Given the description of an element on the screen output the (x, y) to click on. 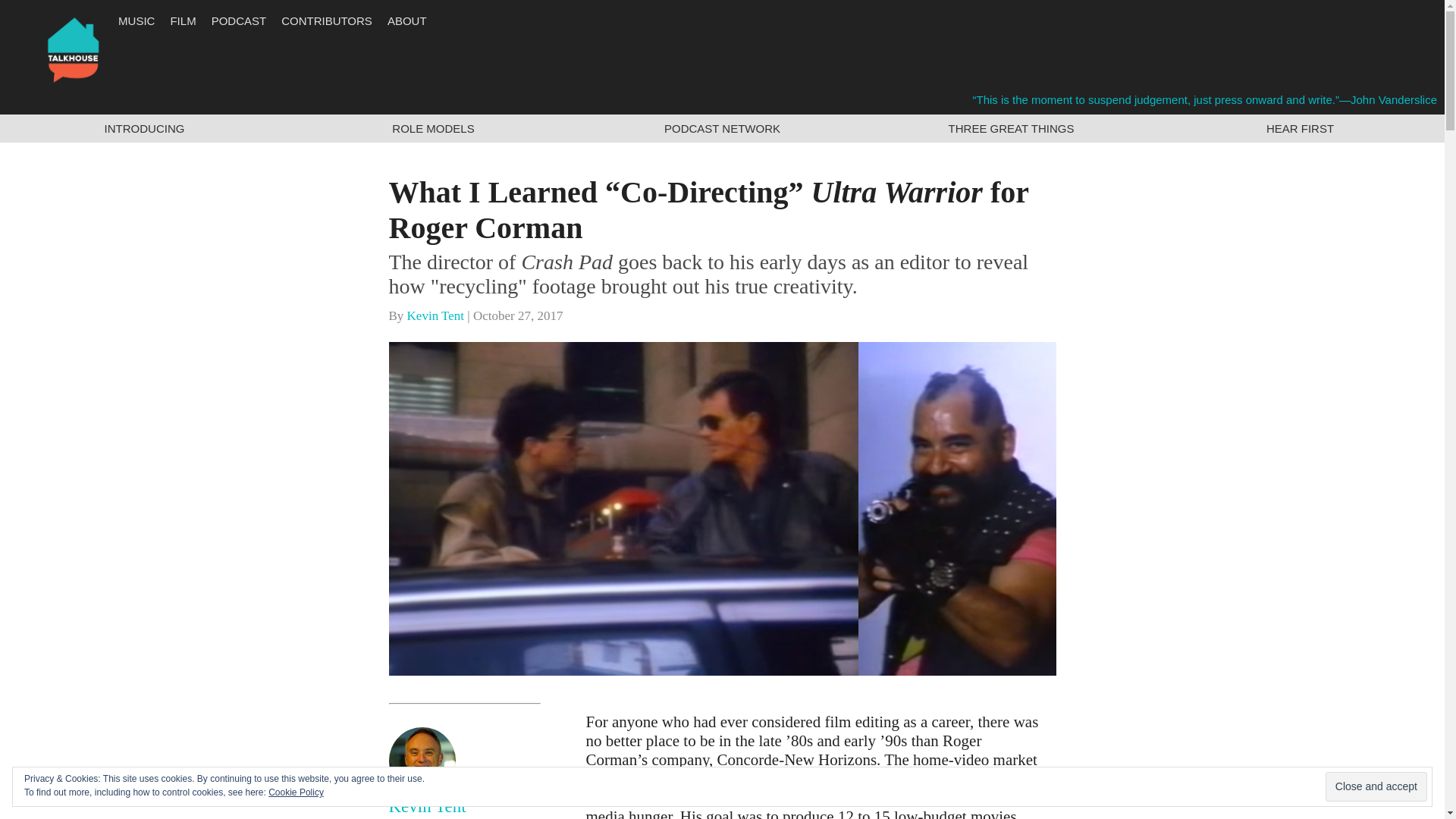
MUSIC (135, 20)
CONTRIBUTORS (326, 20)
INTRODUCING (144, 128)
FILM (182, 20)
PODCAST (238, 20)
ABOUT (406, 20)
Close and accept (1375, 786)
